Given the description of an element on the screen output the (x, y) to click on. 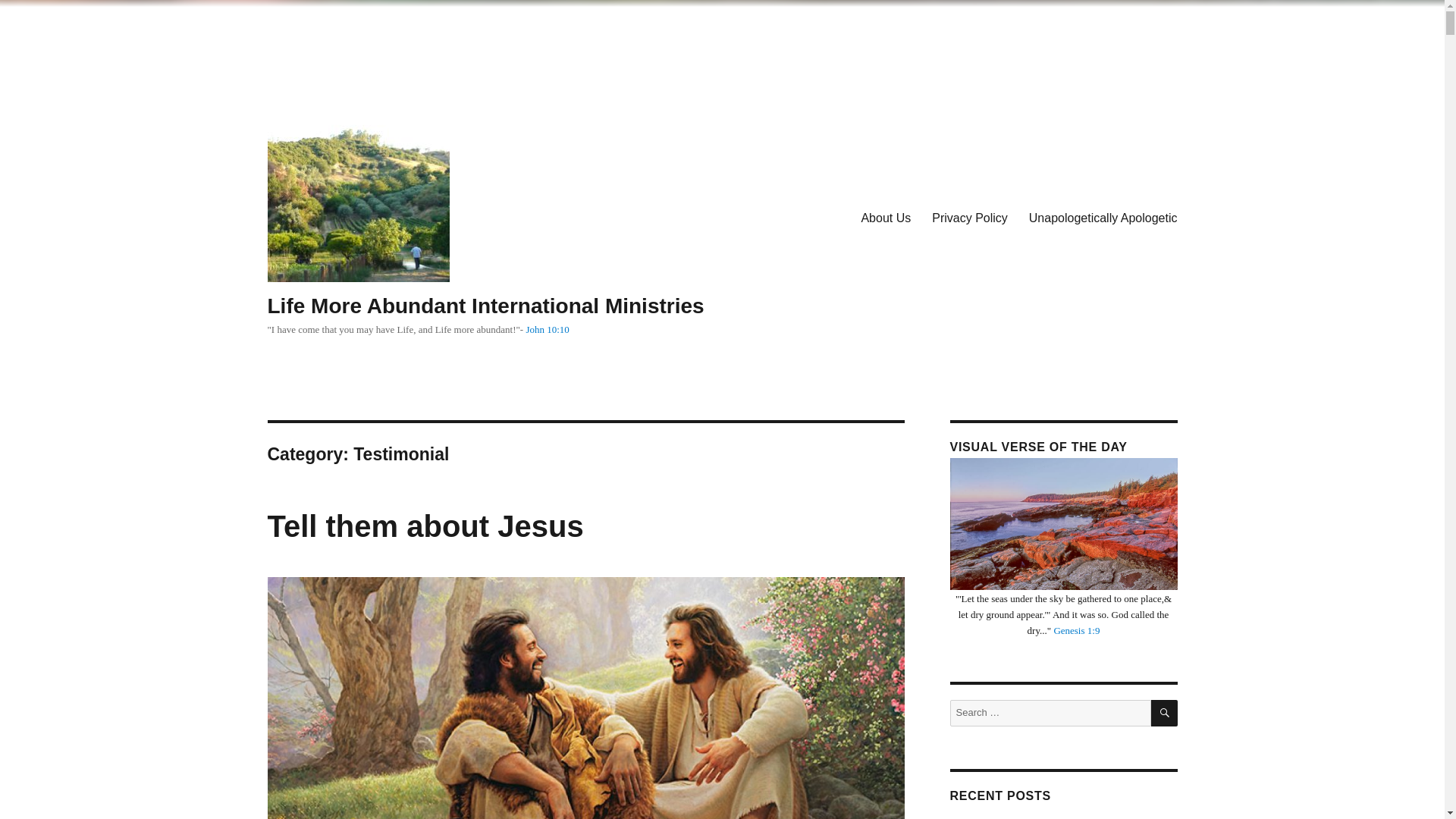
Life More Abundant International Ministries (484, 305)
Unapologetically Apologetic (1102, 217)
About Us (885, 217)
John 10:10 (547, 328)
Tell them about Jesus (424, 525)
Privacy Policy (969, 217)
